Given the description of an element on the screen output the (x, y) to click on. 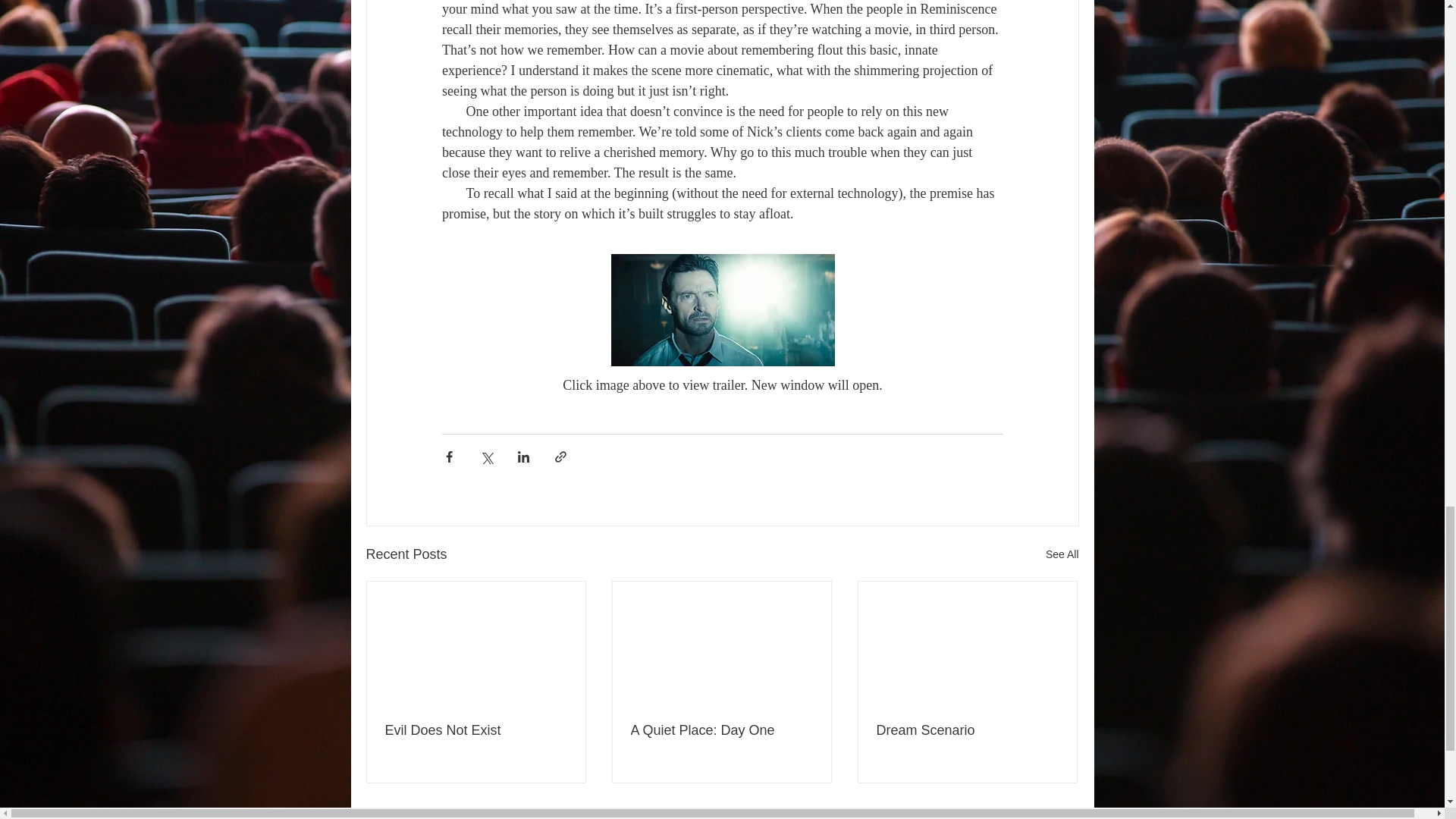
Dream Scenario (967, 729)
See All (1061, 553)
Evil Does Not Exist (476, 729)
A Quiet Place: Day One (721, 729)
